Given the description of an element on the screen output the (x, y) to click on. 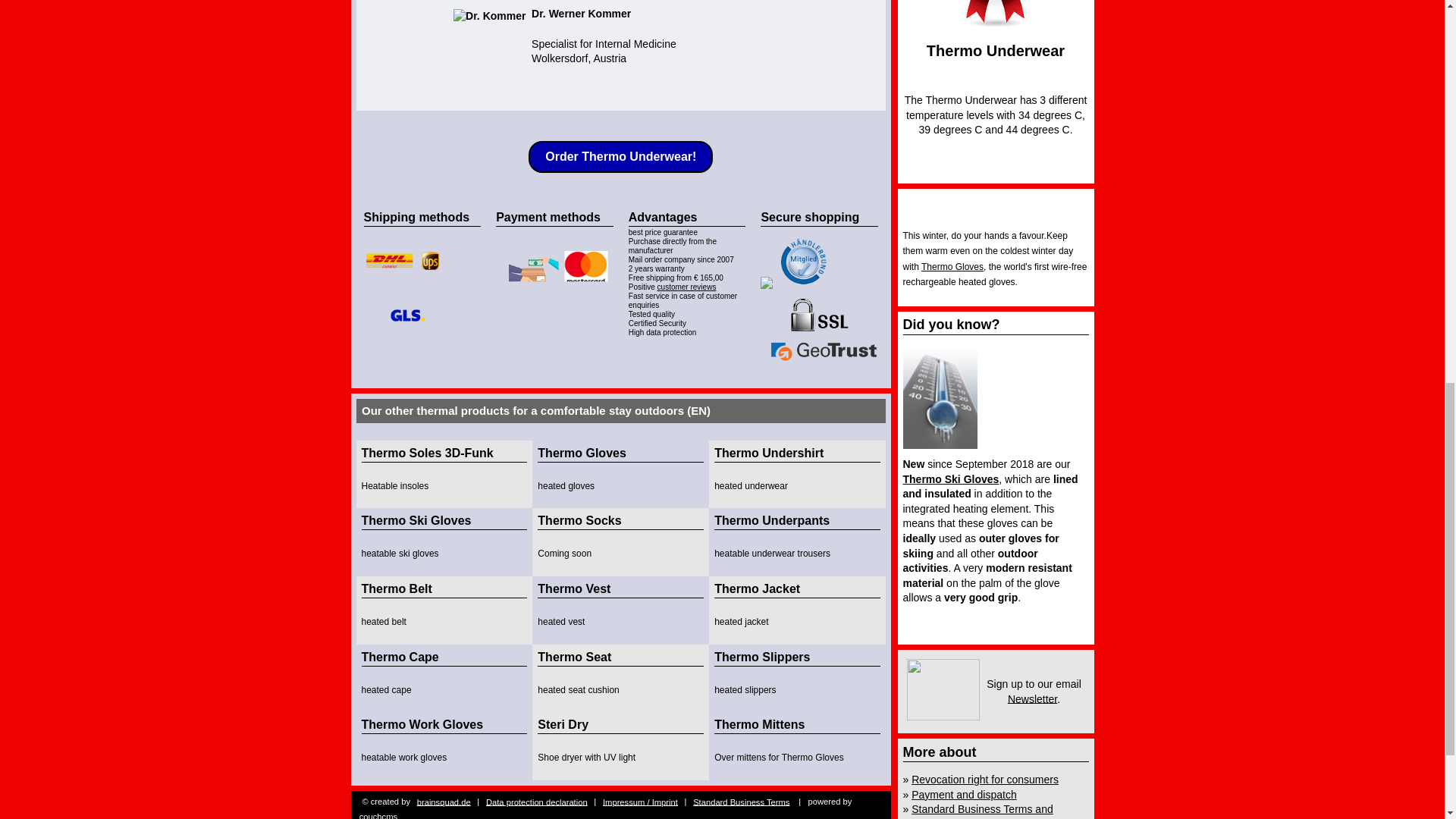
Thermo Gloves (952, 266)
Standard Business Terms and customer information (977, 811)
Newsletter (1032, 698)
Payment and dispatch (963, 794)
Revocation right for consumers (984, 779)
Thermo Ski Gloves (950, 479)
customer reviews (687, 286)
Order Thermo Underwear! (620, 156)
